Given the description of an element on the screen output the (x, y) to click on. 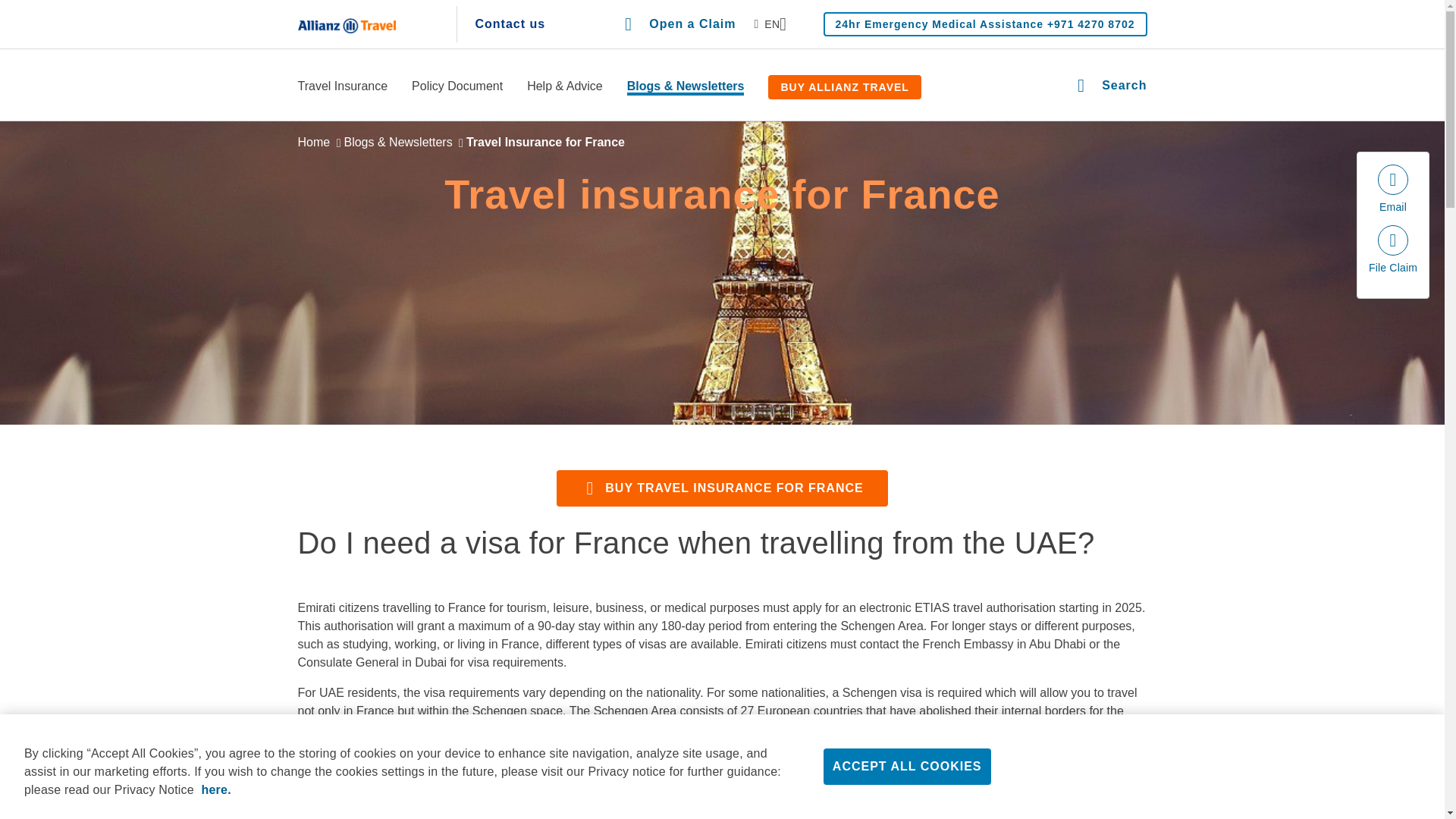
Contact us (509, 24)
BUY ALLIANZ TRAVEL (844, 87)
EN (770, 24)
Search (1112, 85)
Policy Document (457, 87)
Travel Insurance (342, 87)
Open a Claim (679, 24)
